Given the description of an element on the screen output the (x, y) to click on. 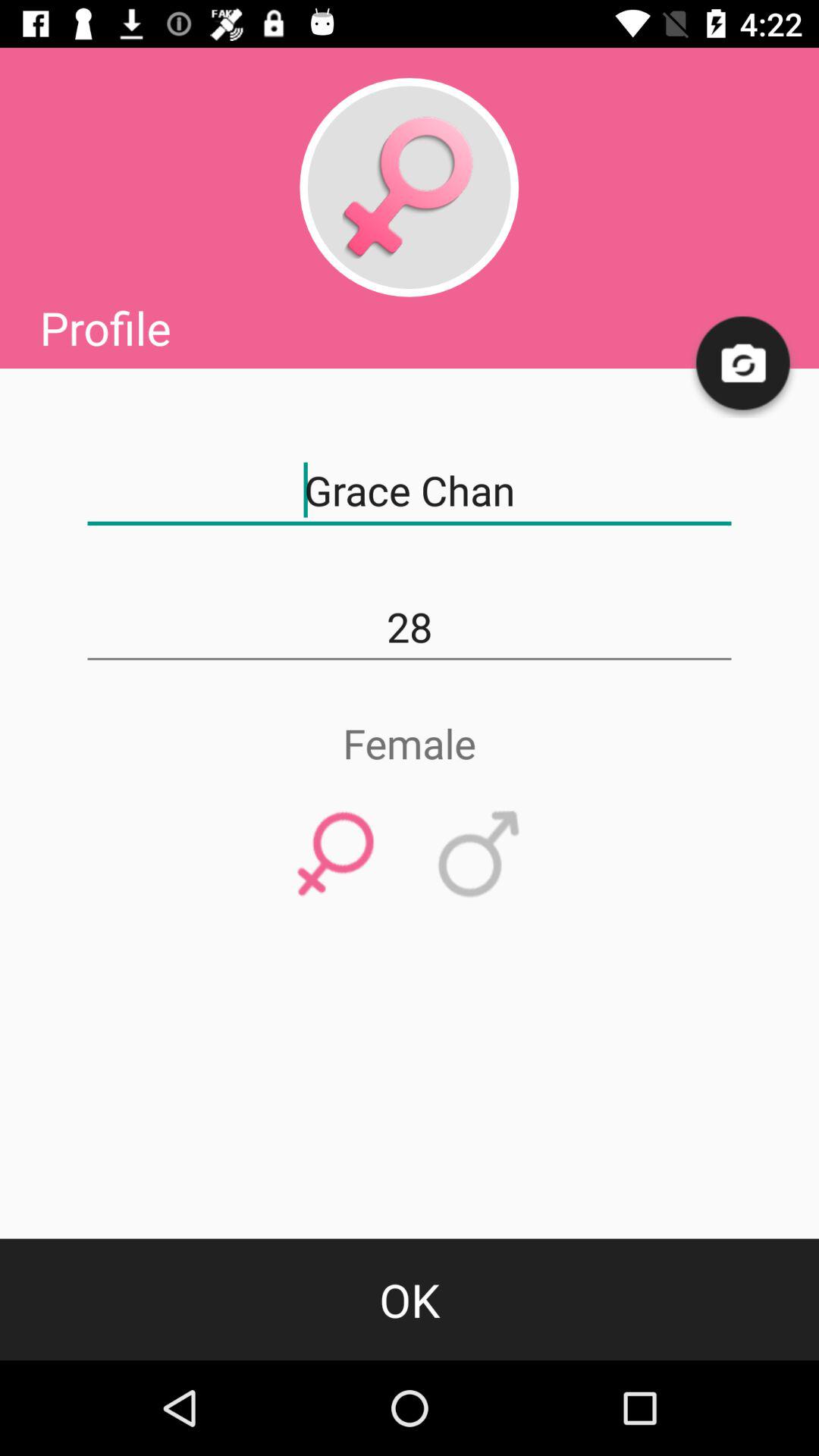
turn on ok item (409, 1299)
